Given the description of an element on the screen output the (x, y) to click on. 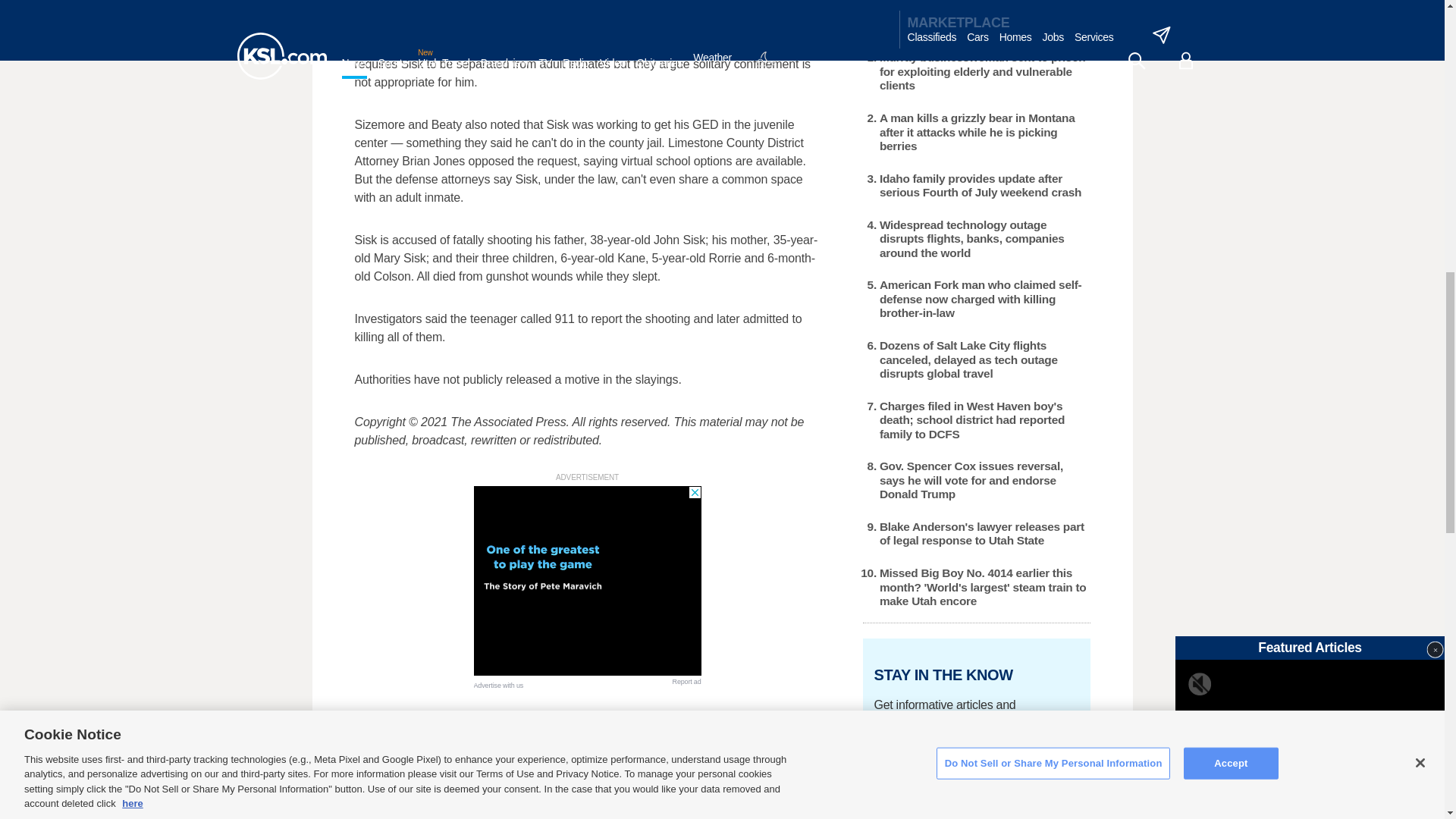
3rd party ad content (586, 580)
